Given the description of an element on the screen output the (x, y) to click on. 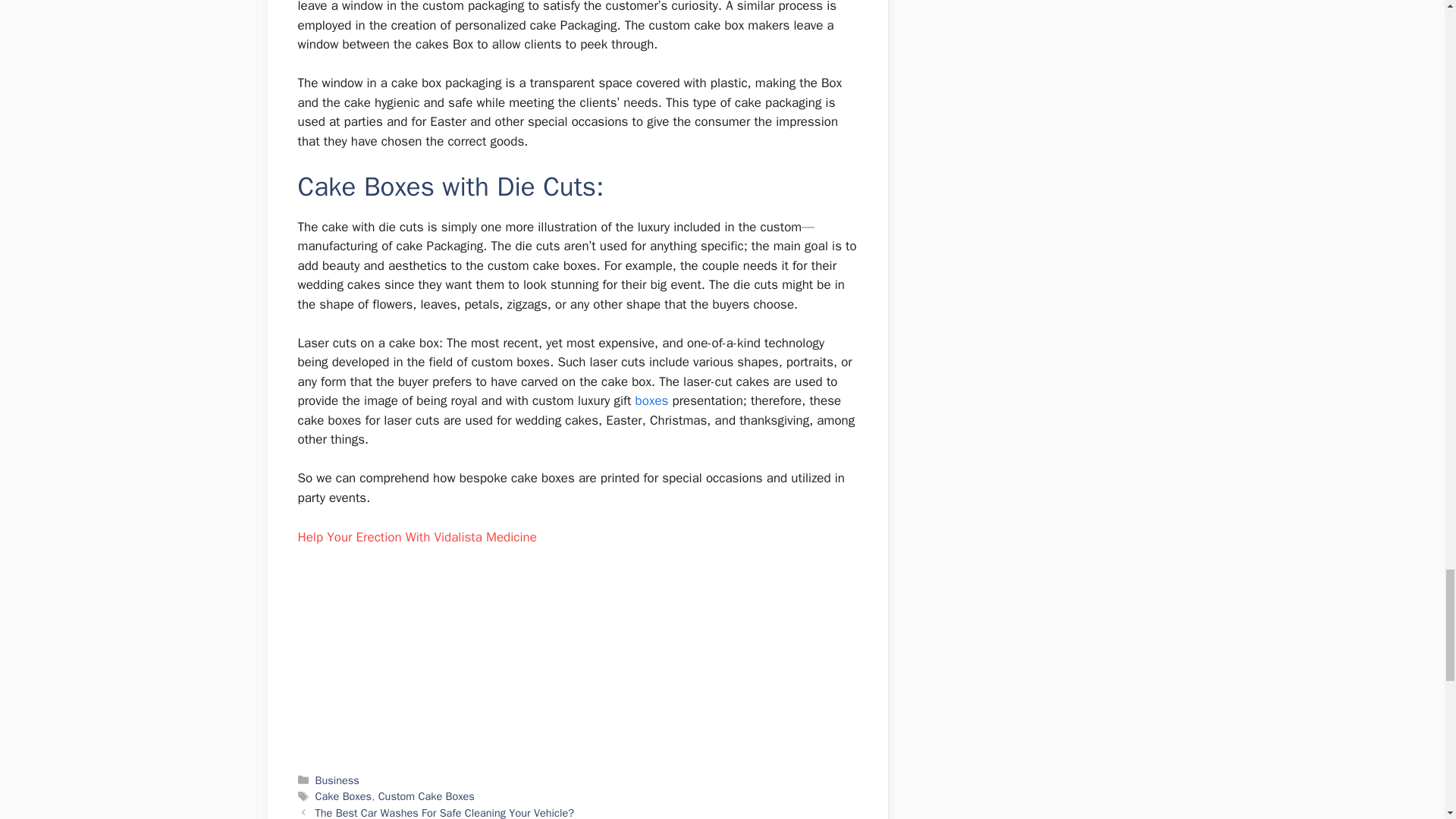
boxes (651, 400)
Help Your Erection With Vidalista Medicine (416, 537)
Business (337, 780)
Custom Cake Boxes (426, 796)
The Best Car Washes For Safe Cleaning Your Vehicle? (444, 812)
Cake Boxes (343, 796)
